Given the description of an element on the screen output the (x, y) to click on. 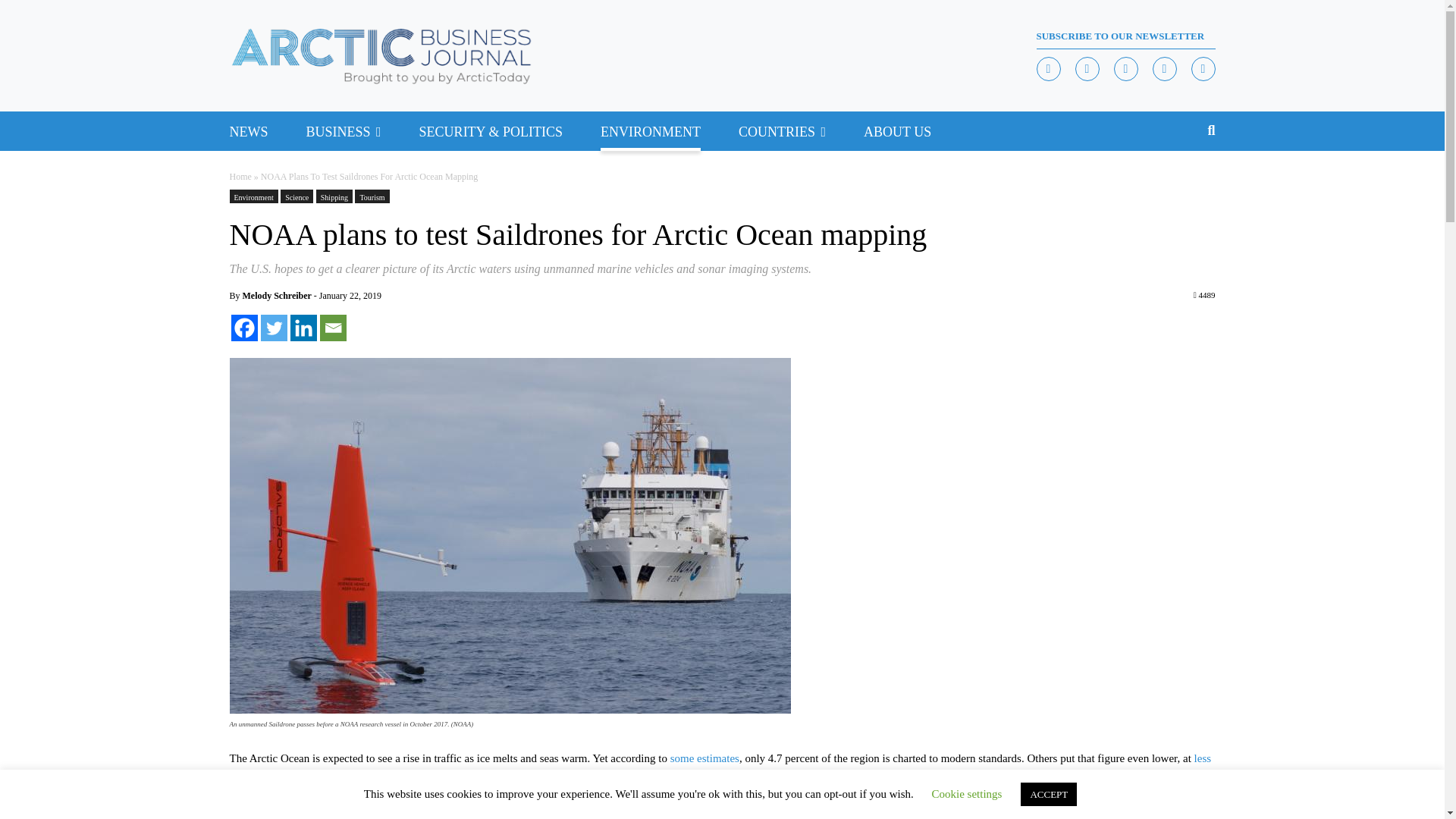
NEWS (247, 130)
BUSINESS (338, 130)
SUBSCRIBE TO OUR NEWSLETTER (1124, 36)
